Given the description of an element on the screen output the (x, y) to click on. 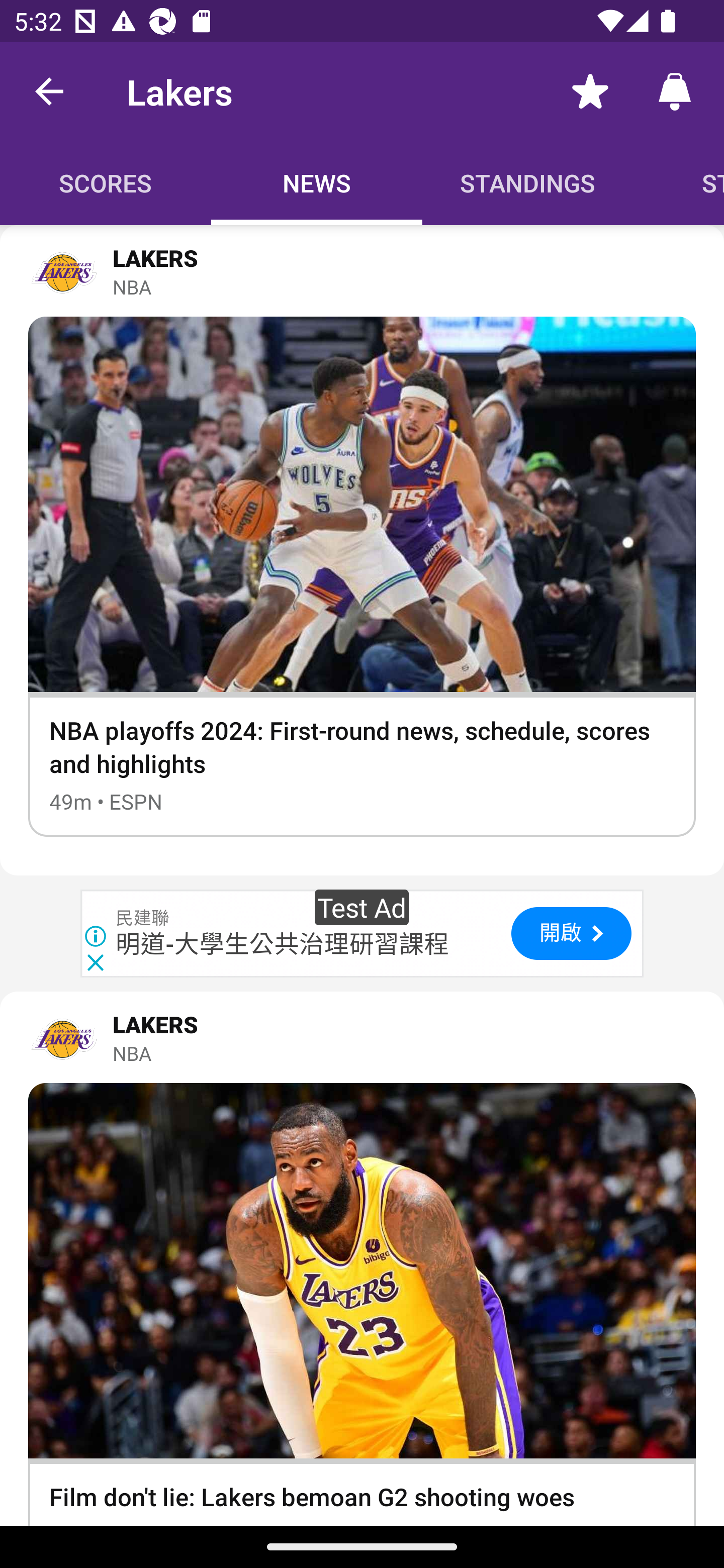
back.button (49, 90)
Favorite toggle (590, 90)
Alerts (674, 90)
Scores SCORES (105, 183)
Standings STANDINGS (527, 183)
LAKERS NBA (362, 270)
民建聯 (142, 918)
開啟 (570, 933)
明道-大學生公共治理研習課程 (282, 943)
LAKERS NBA (362, 1036)
